Given the description of an element on the screen output the (x, y) to click on. 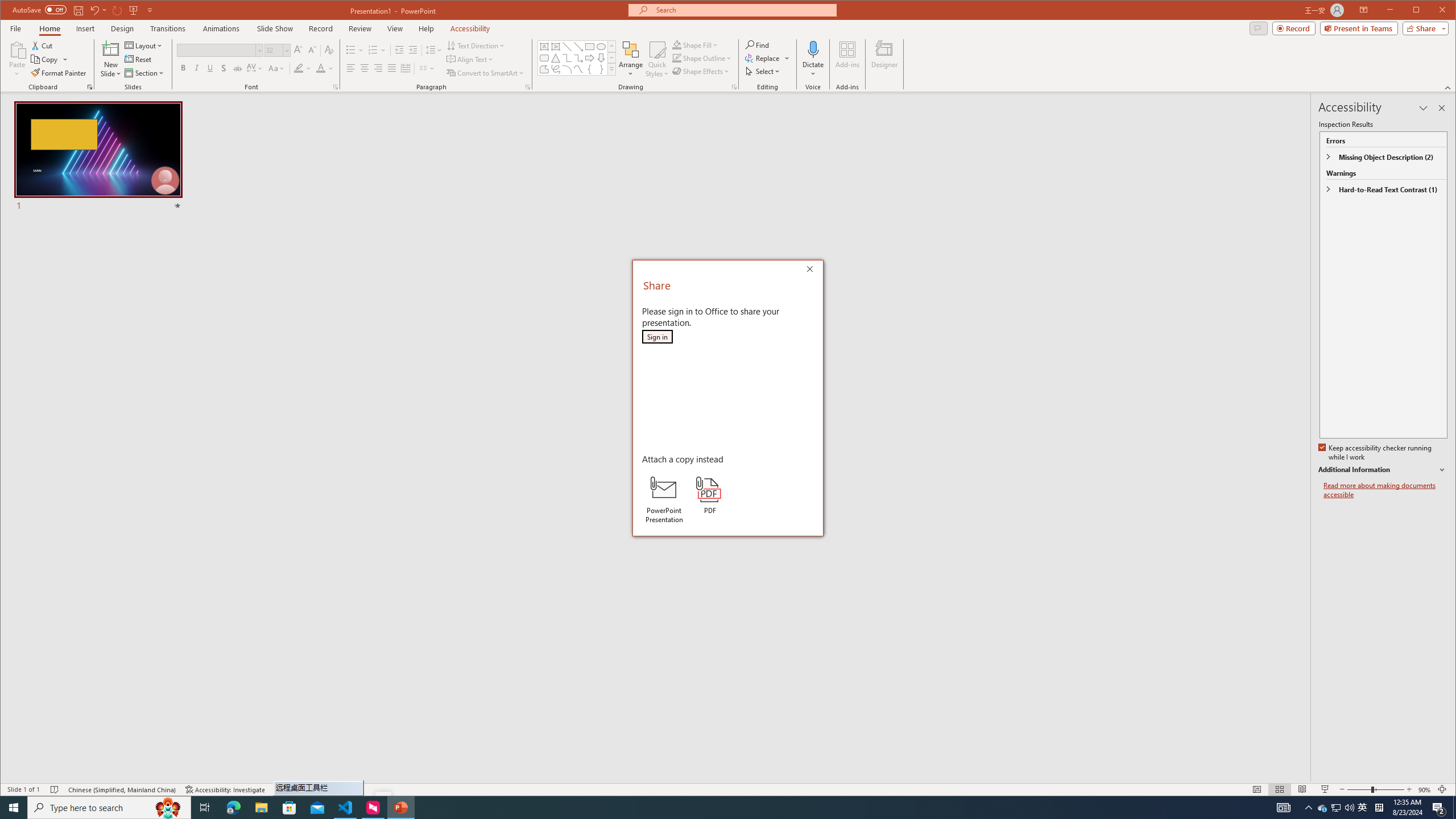
Zoom 90% (1424, 789)
Sign in (657, 336)
